Given the description of an element on the screen output the (x, y) to click on. 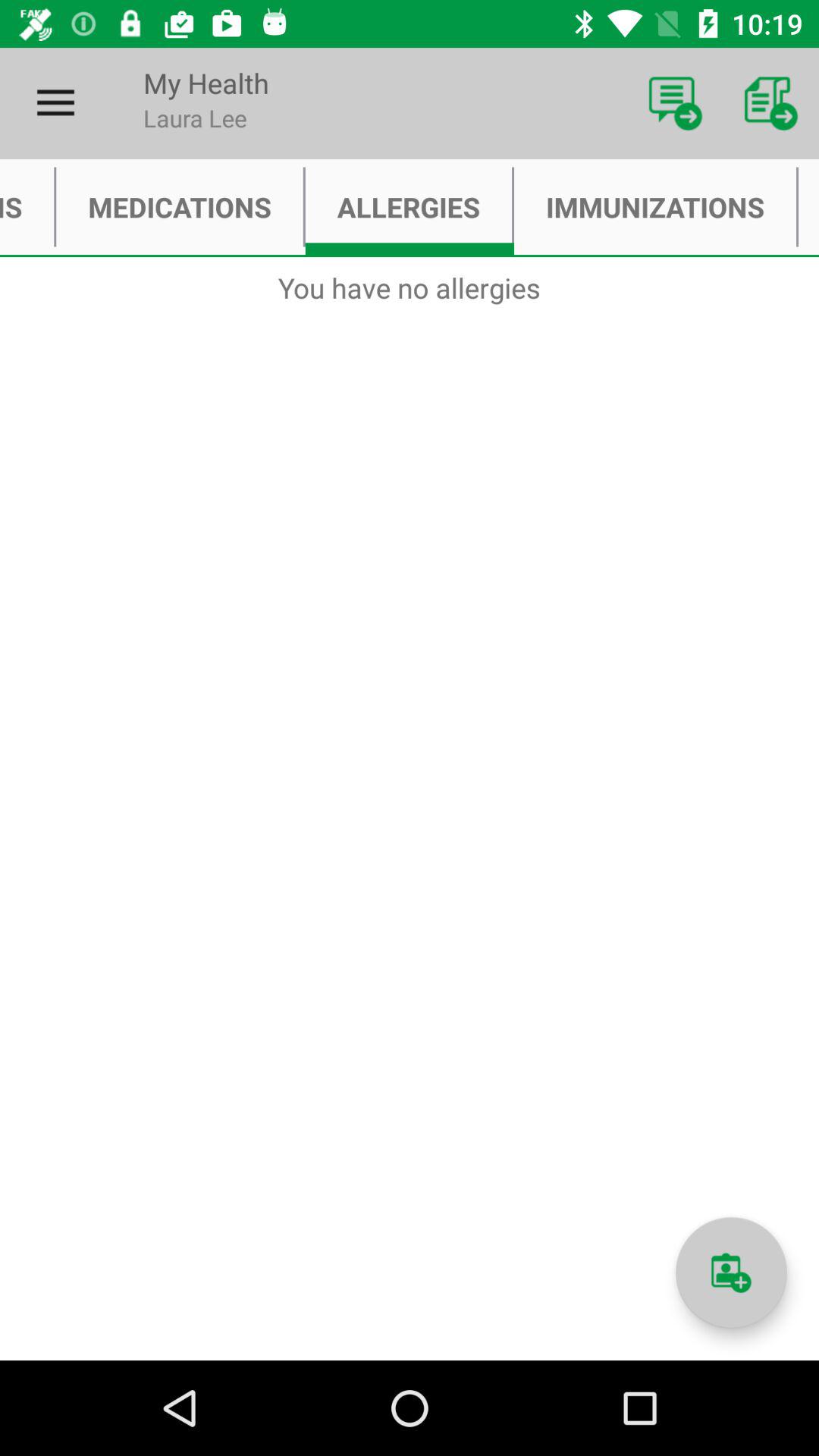
launch item above the immunizations icon (675, 103)
